Given the description of an element on the screen output the (x, y) to click on. 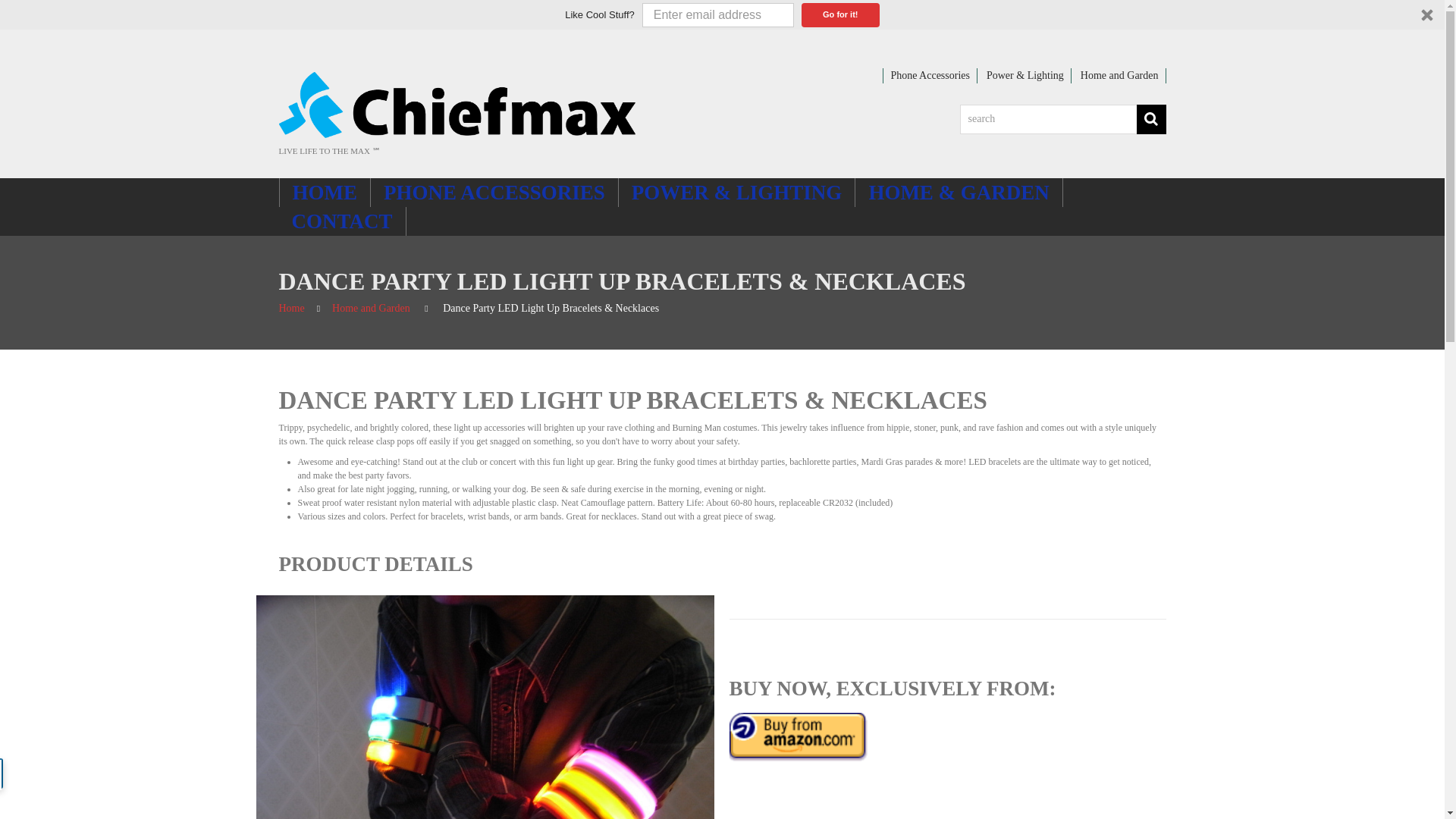
CONTACT (342, 221)
Home and Garden (370, 307)
Go (1150, 119)
Go for it! (840, 15)
Go (1150, 119)
Phone Accessories (929, 75)
HOME (325, 192)
Home and Garden (1119, 75)
Go (1150, 119)
PHONE ACCESSORIES (494, 192)
Home (291, 307)
